Given the description of an element on the screen output the (x, y) to click on. 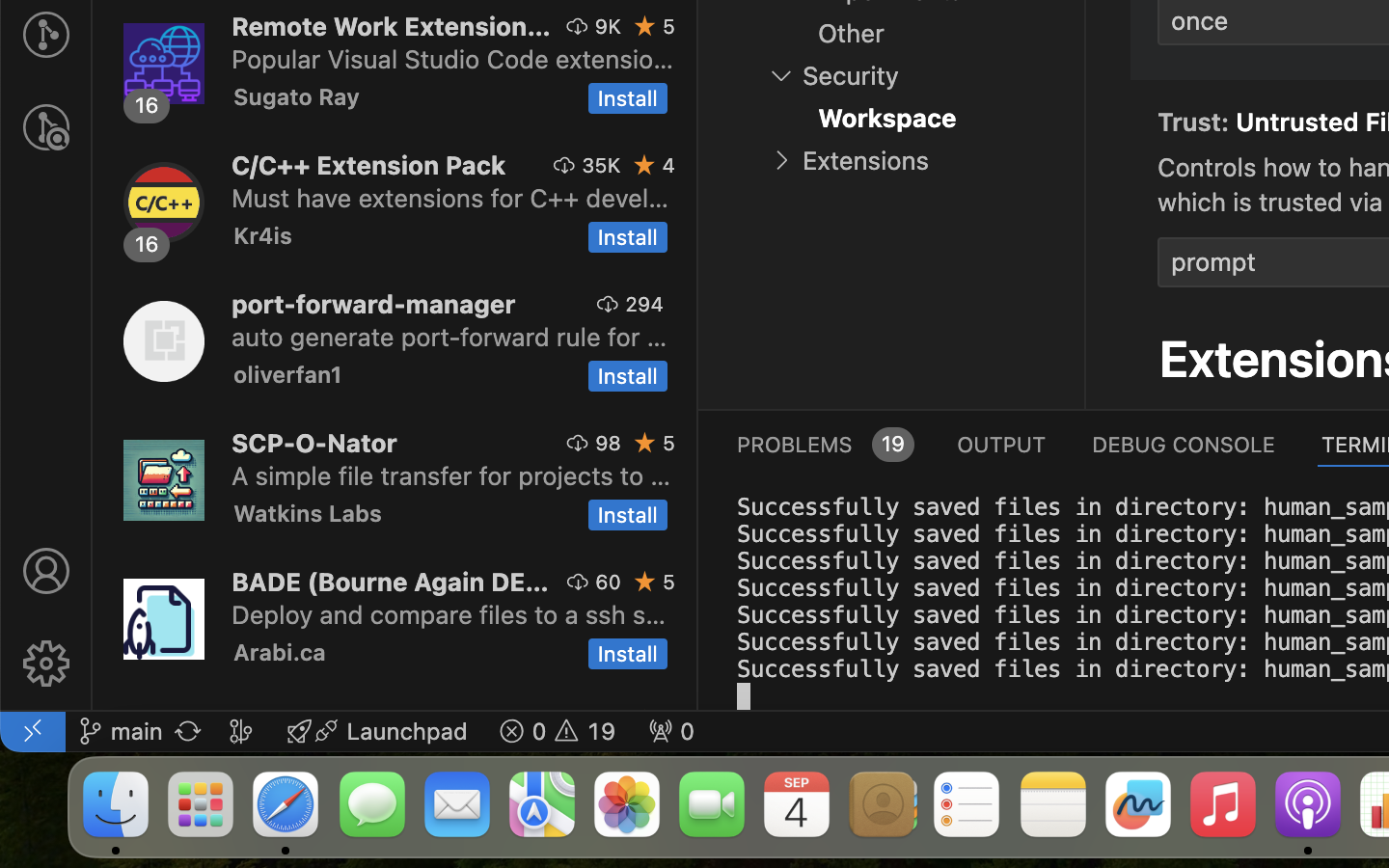
294 Element type: AXStaticText (644, 303)
port-forward-manager Element type: AXStaticText (374, 303)
 Element type: AXStaticText (46, 663)
16 Element type: AXStaticText (147, 243)
9K Element type: AXStaticText (607, 25)
